Given the description of an element on the screen output the (x, y) to click on. 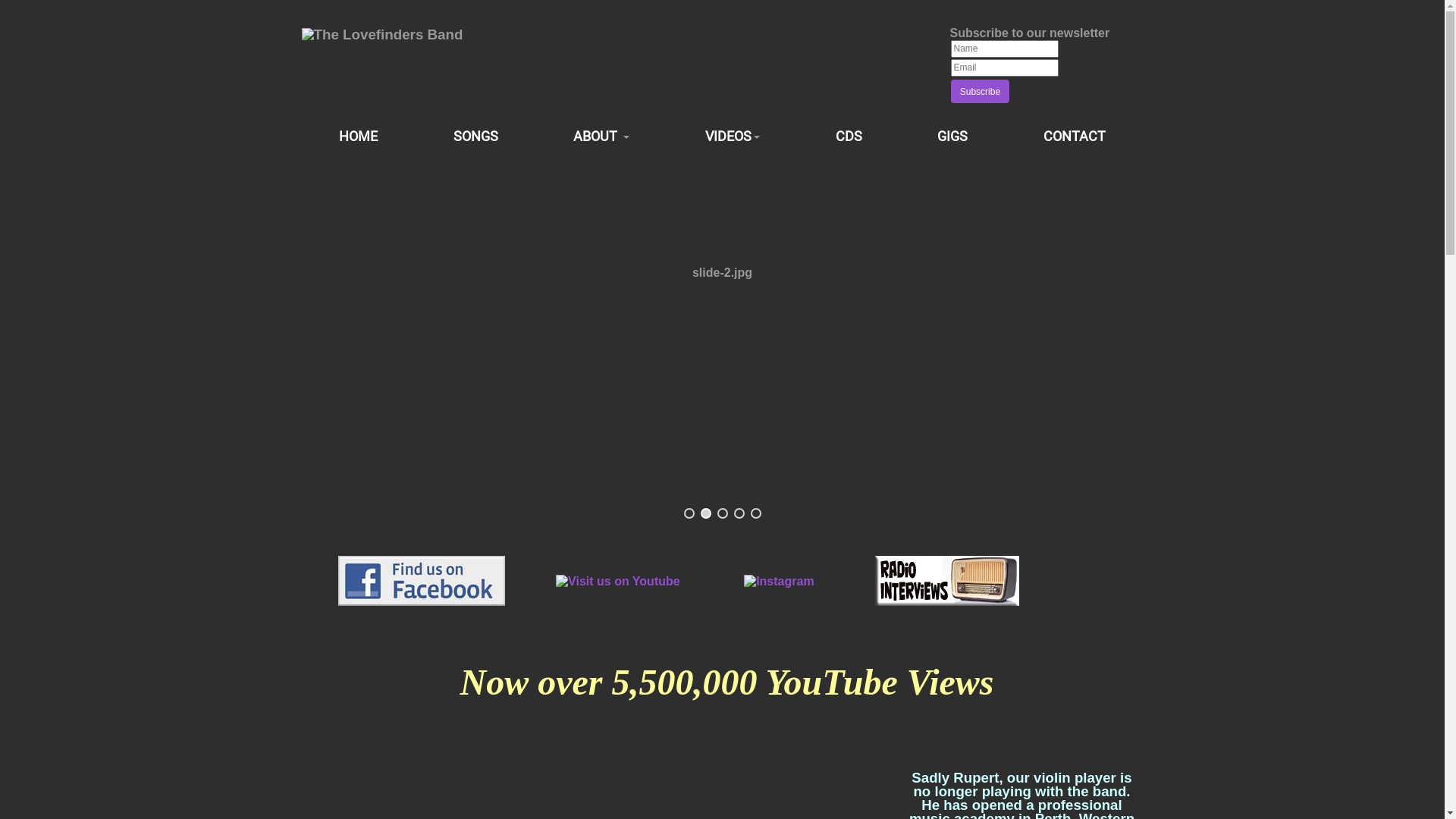
Visit us on YouTube Element type: hover (617, 579)
The Lovefinders Band Element type: hover (382, 32)
HOME Element type: text (358, 135)
VIDEOS Element type: text (732, 135)
Click here for our Radio Interviews Element type: hover (947, 579)
Subscribe Element type: text (980, 91)
CONTACT Element type: text (1073, 135)
Click to follow us on Instagram Element type: hover (778, 579)
GIGS Element type: text (952, 135)
CDS Element type: text (848, 135)
SONGS Element type: text (475, 135)
Visit us on Facebook Element type: hover (421, 579)
